Given the description of an element on the screen output the (x, y) to click on. 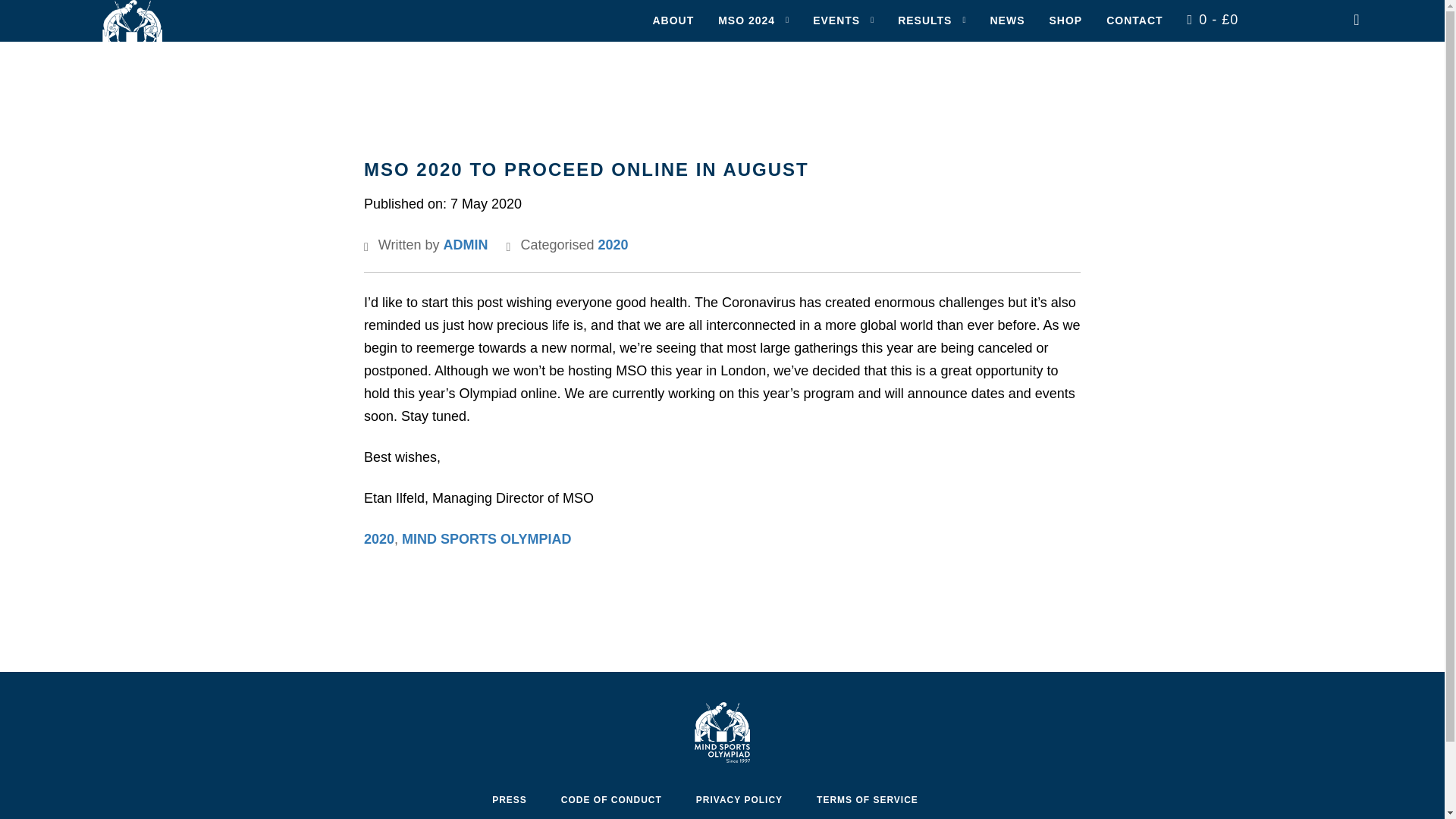
Posts by admin (465, 244)
ABOUT (673, 21)
EVENTS (836, 21)
MSO 2024 (745, 21)
View your shopping cart (1213, 20)
RESULTS (925, 21)
